Given the description of an element on the screen output the (x, y) to click on. 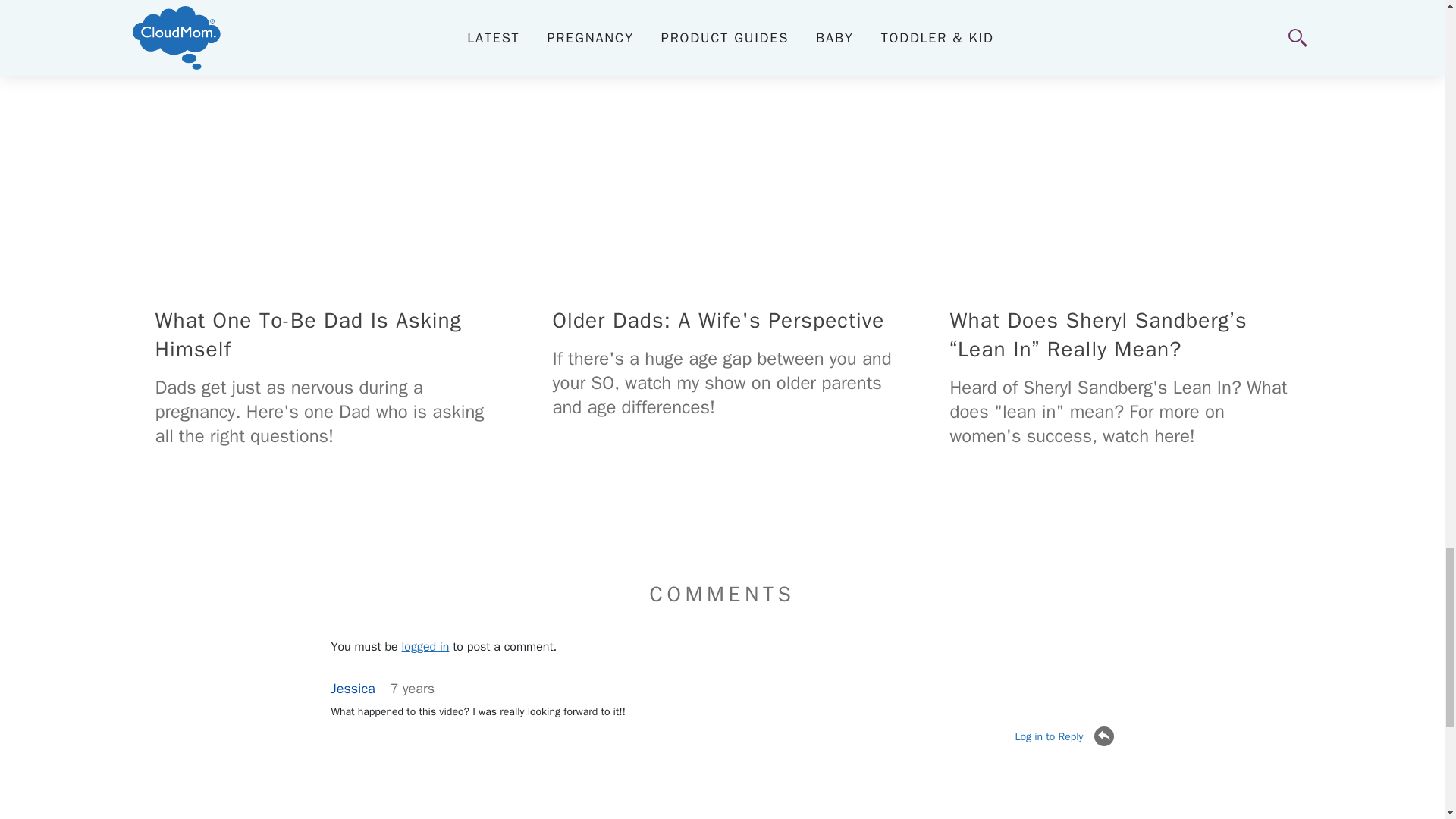
What One To-Be Dad Is Asking Himself (324, 174)
Older Dads: A Wife's Perspective (721, 174)
